Given the description of an element on the screen output the (x, y) to click on. 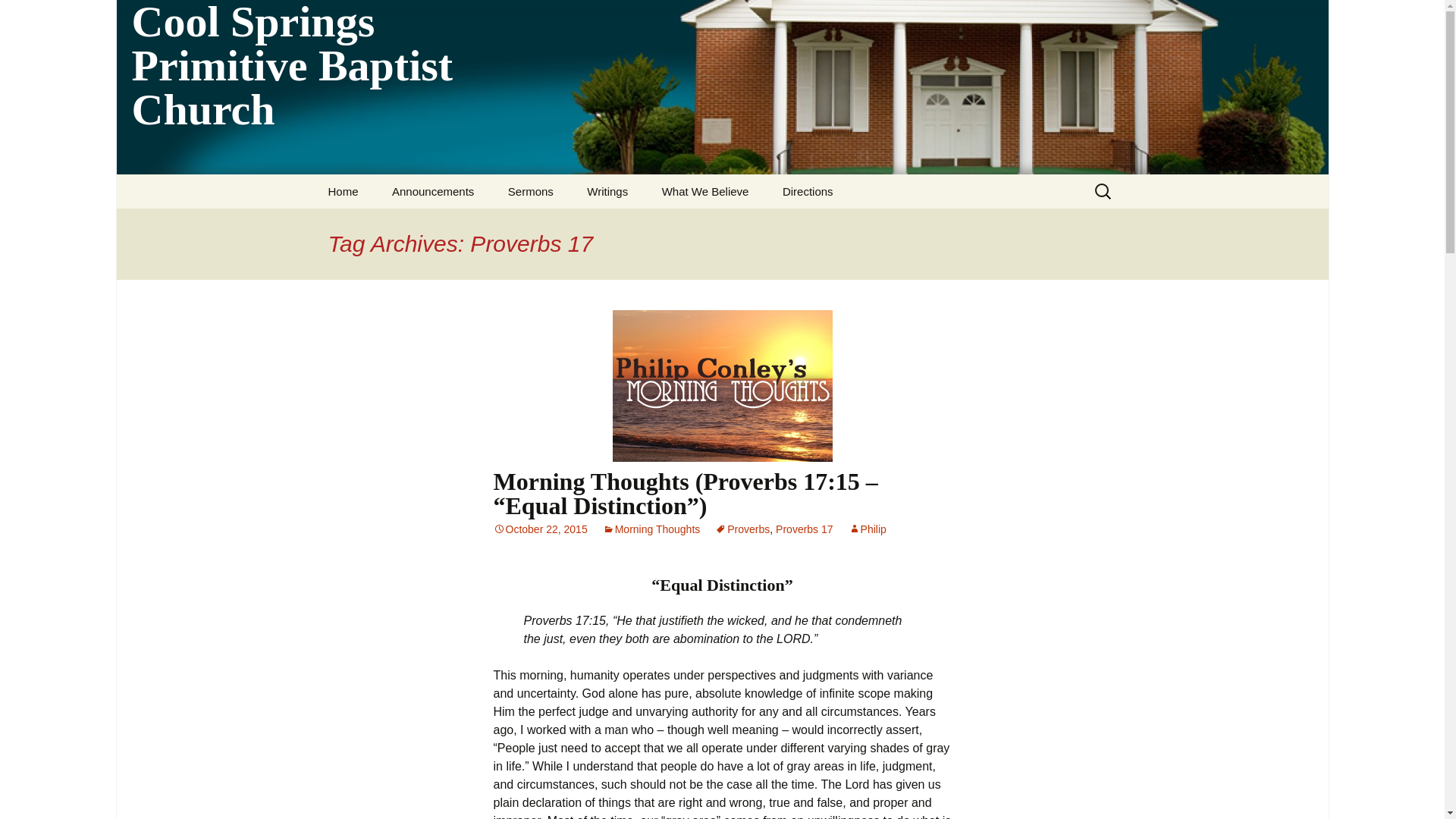
Philip (867, 529)
View all posts by Philip (867, 529)
Proverbs 17 (804, 529)
What We Believe (705, 191)
Search (18, 15)
October 22, 2015 (539, 529)
Directions (807, 191)
Morning Thoughts (651, 529)
